Given the description of an element on the screen output the (x, y) to click on. 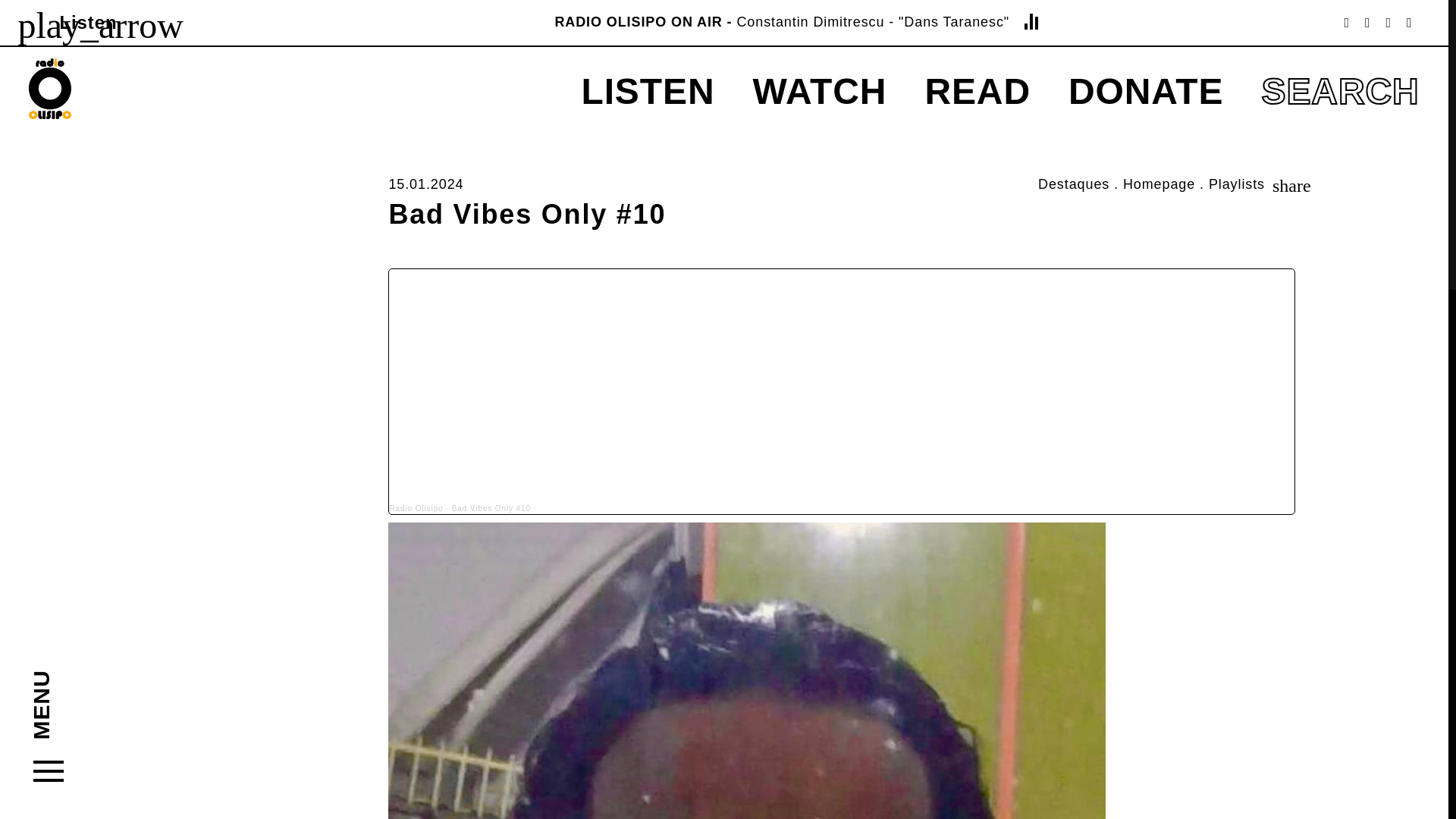
DONATE (1146, 91)
LAFA MUKIGO (647, 135)
LIVES (780, 135)
READ (977, 91)
PLAYLISTS (632, 135)
FAQS (950, 135)
PODCASTS (633, 135)
LISTEN (647, 91)
Radio Olisipo (415, 508)
DESTAQUES (983, 135)
